Given the description of an element on the screen output the (x, y) to click on. 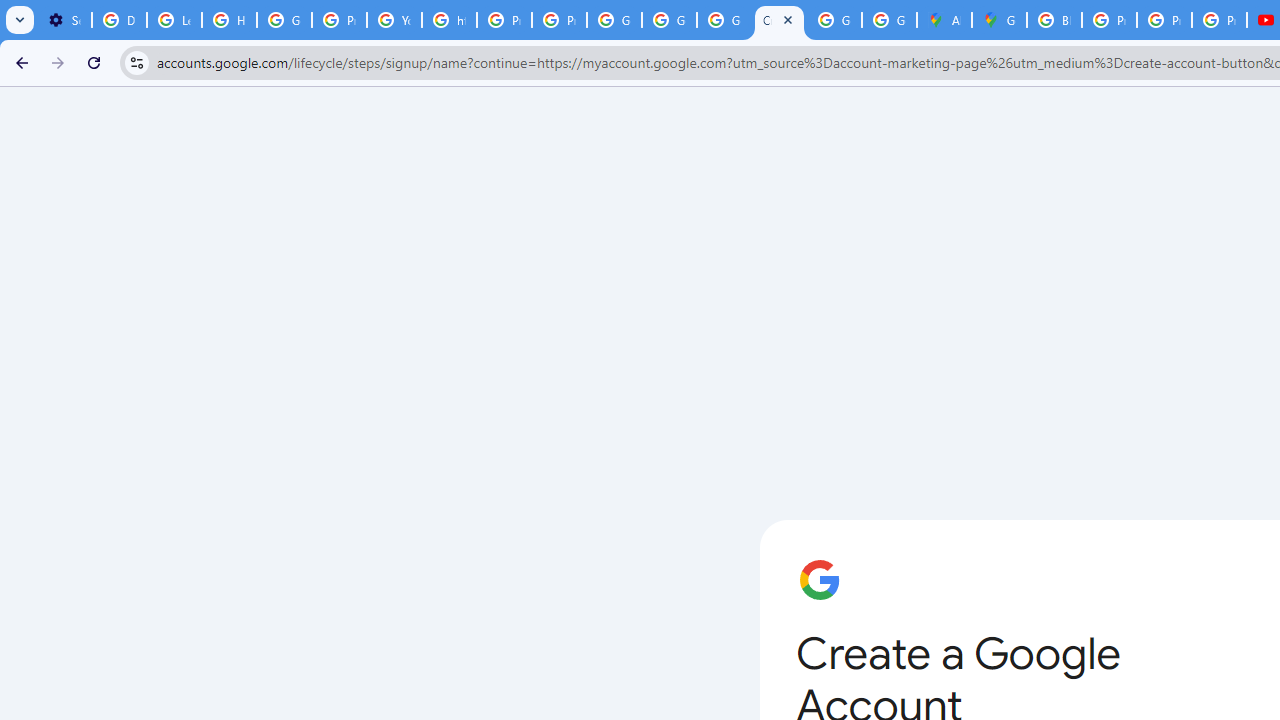
Privacy Help Center - Policies Help (1163, 20)
YouTube (394, 20)
Delete photos & videos - Computer - Google Photos Help (119, 20)
